Given the description of an element on the screen output the (x, y) to click on. 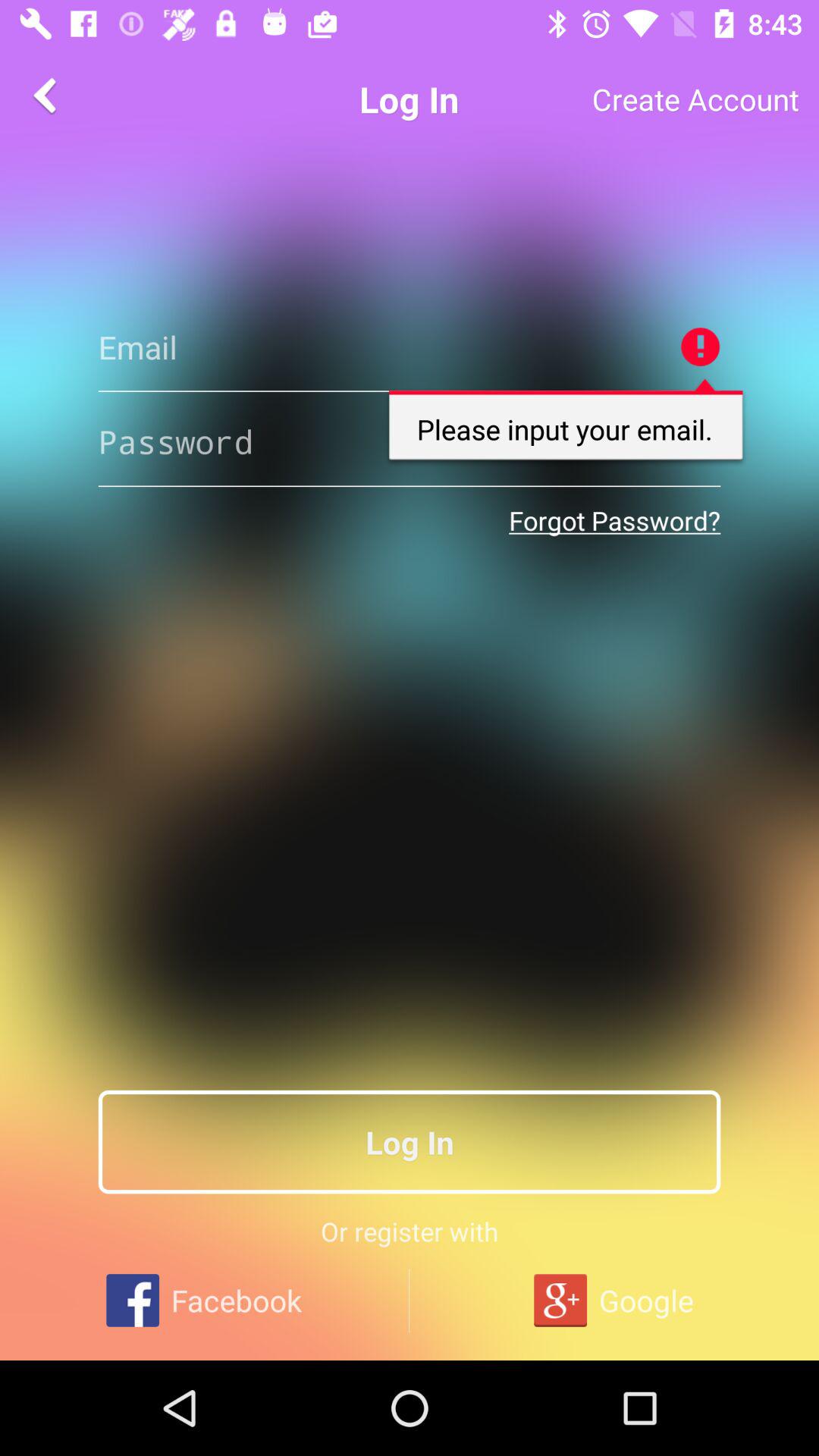
enter the email address for login (409, 347)
